Given the description of an element on the screen output the (x, y) to click on. 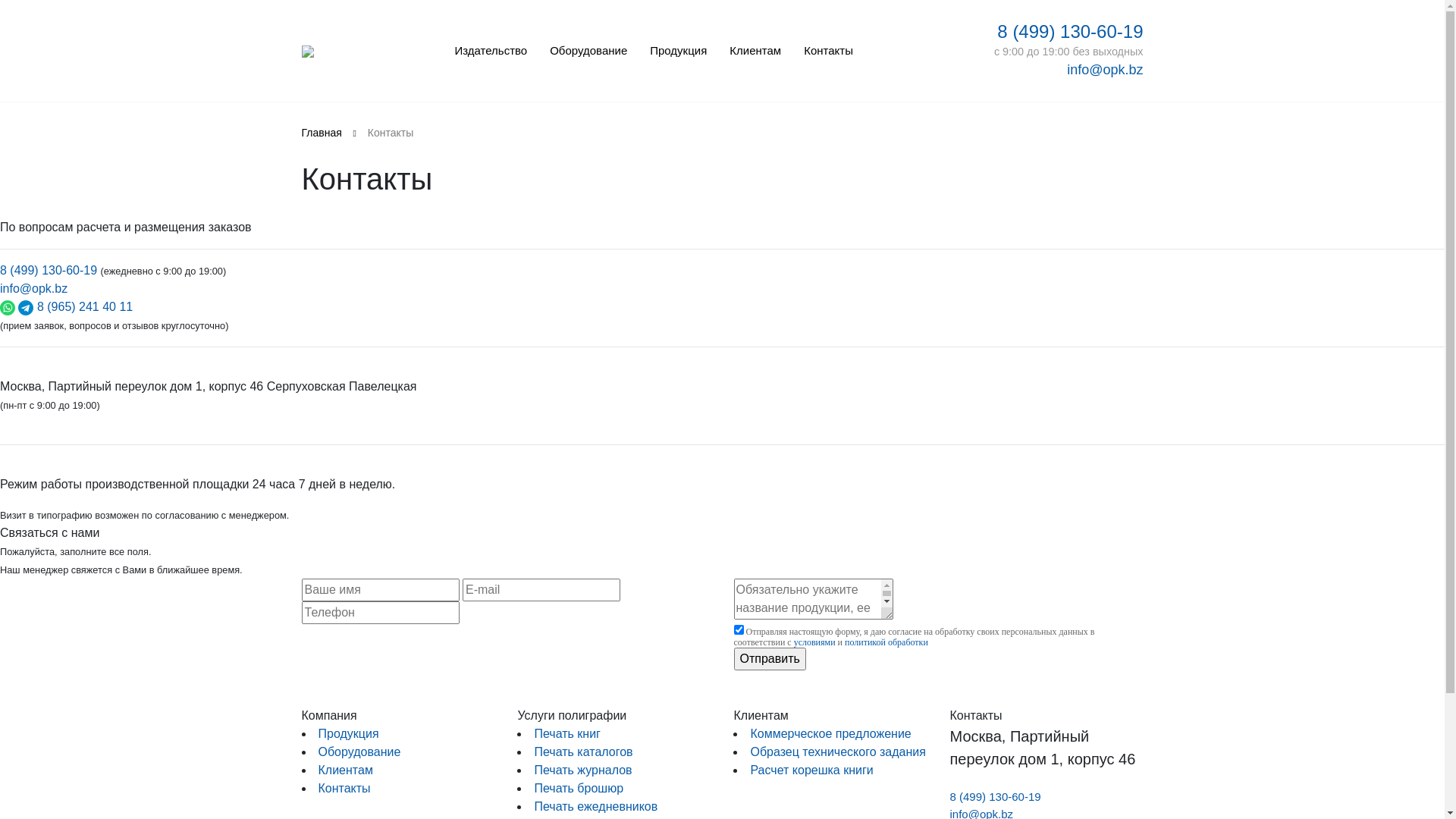
info@opk.bz Element type: text (1104, 69)
info@opk.bz Element type: text (33, 288)
8 (499) 130-60-19 Element type: text (48, 269)
8 (965) 241 40 11 Element type: text (84, 306)
8 (499) 130-60-19 Element type: text (1069, 31)
8 (499) 130-60-19 Element type: text (994, 796)
